Given the description of an element on the screen output the (x, y) to click on. 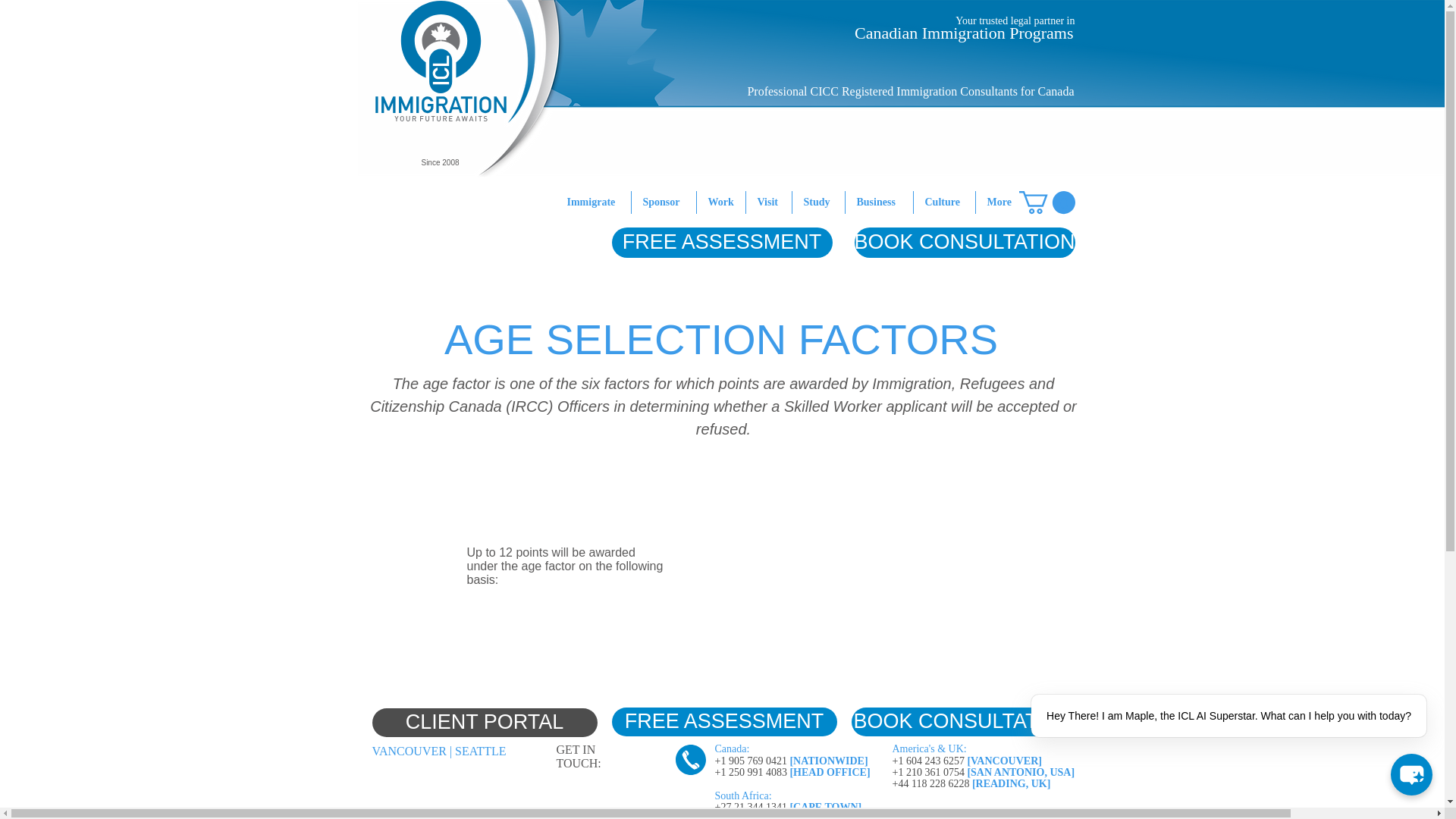
Visit (768, 201)
Site Search (842, 284)
Work (719, 201)
Immigrate (592, 201)
0 (1047, 201)
Sponsor (662, 201)
Study (818, 201)
